Given the description of an element on the screen output the (x, y) to click on. 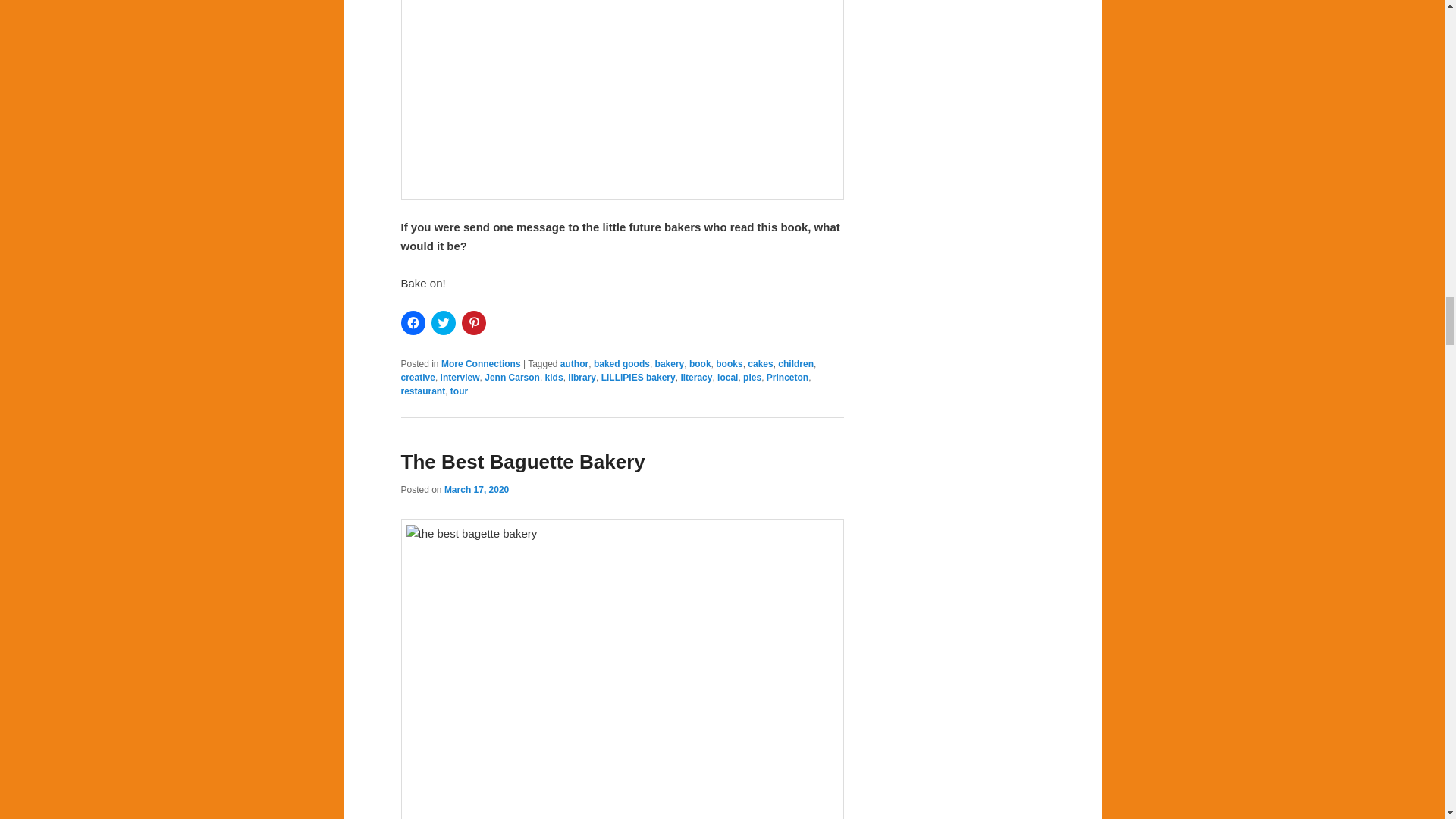
library (581, 377)
bakery (669, 363)
baked goods (621, 363)
tour (458, 390)
The Best Baguette Bakery (522, 461)
Click to share on Pinterest (472, 322)
local (727, 377)
creative (416, 377)
Click to share on Twitter (442, 322)
9:30 am (476, 489)
More Connections (481, 363)
children (795, 363)
book (699, 363)
books (729, 363)
Click to share on Facebook (412, 322)
